Given the description of an element on the screen output the (x, y) to click on. 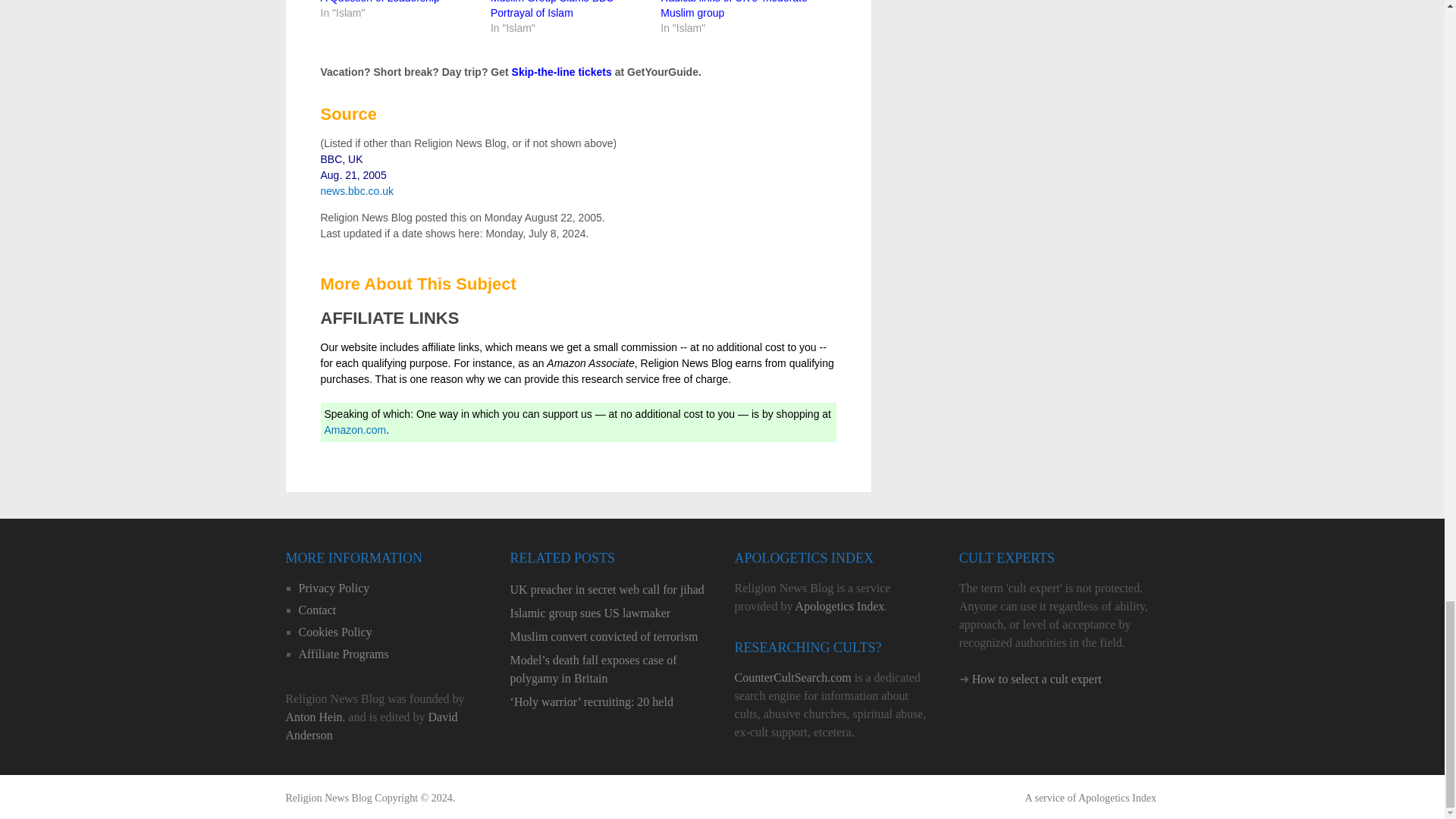
news.bbc.co.uk (356, 191)
Muslim Group Slams BBC Portrayal of Islam (552, 9)
Amazon.com (355, 429)
Islamic group sues US lawmaker (610, 613)
Muslim convert convicted of terrorism (610, 637)
Skip-the-line tickets (561, 71)
A Question of Leadership (379, 2)
Muslim Group Slams BBC Portrayal of Islam (552, 9)
A Question of Leadership (379, 2)
 Religion news: religious cults, sects, and world religions (328, 797)
UK preacher in secret web call for jihad (610, 589)
